Given the description of an element on the screen output the (x, y) to click on. 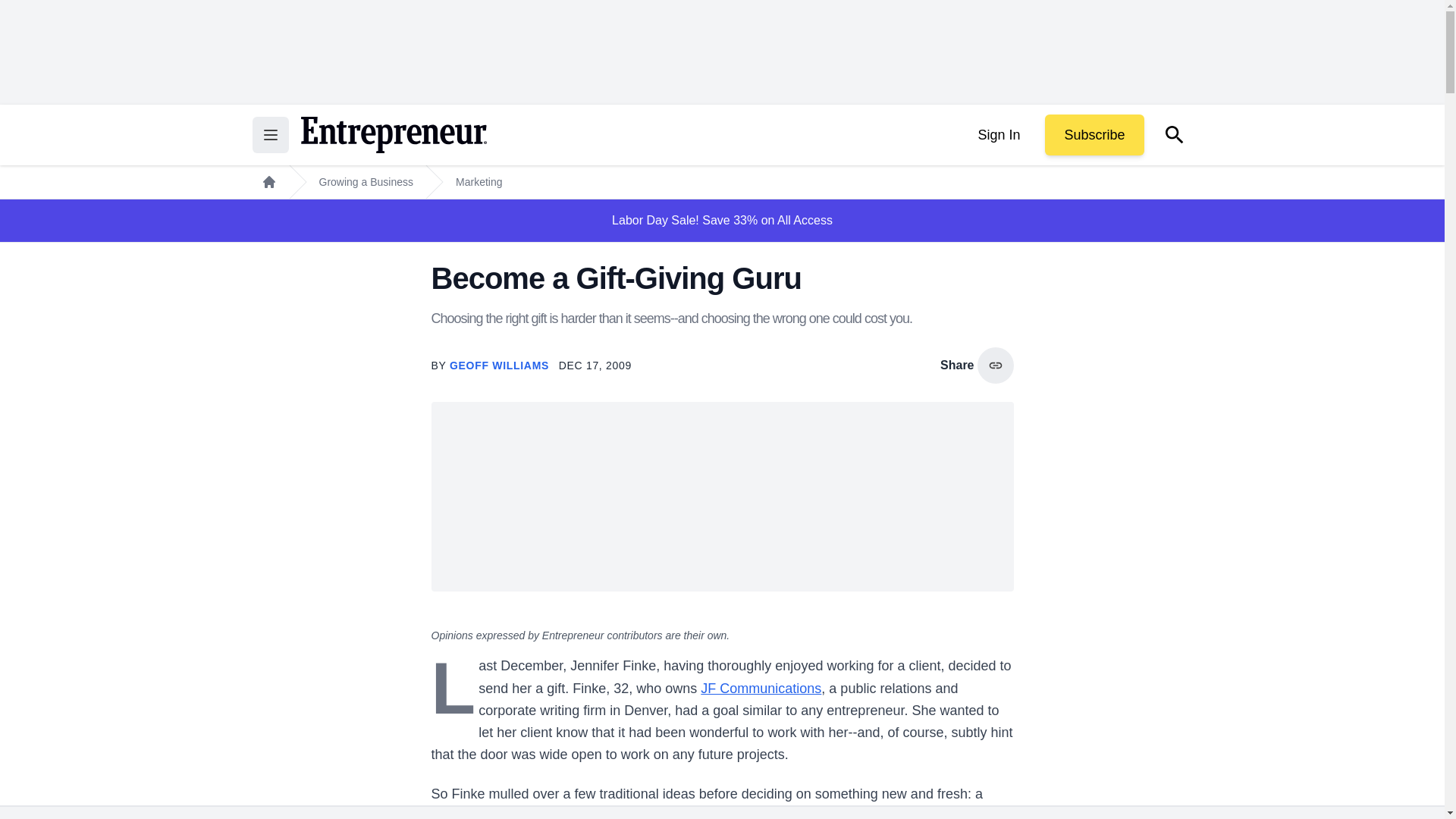
copy (994, 365)
Subscribe (1093, 134)
Return to the home page (392, 135)
Sign In (998, 134)
